Given the description of an element on the screen output the (x, y) to click on. 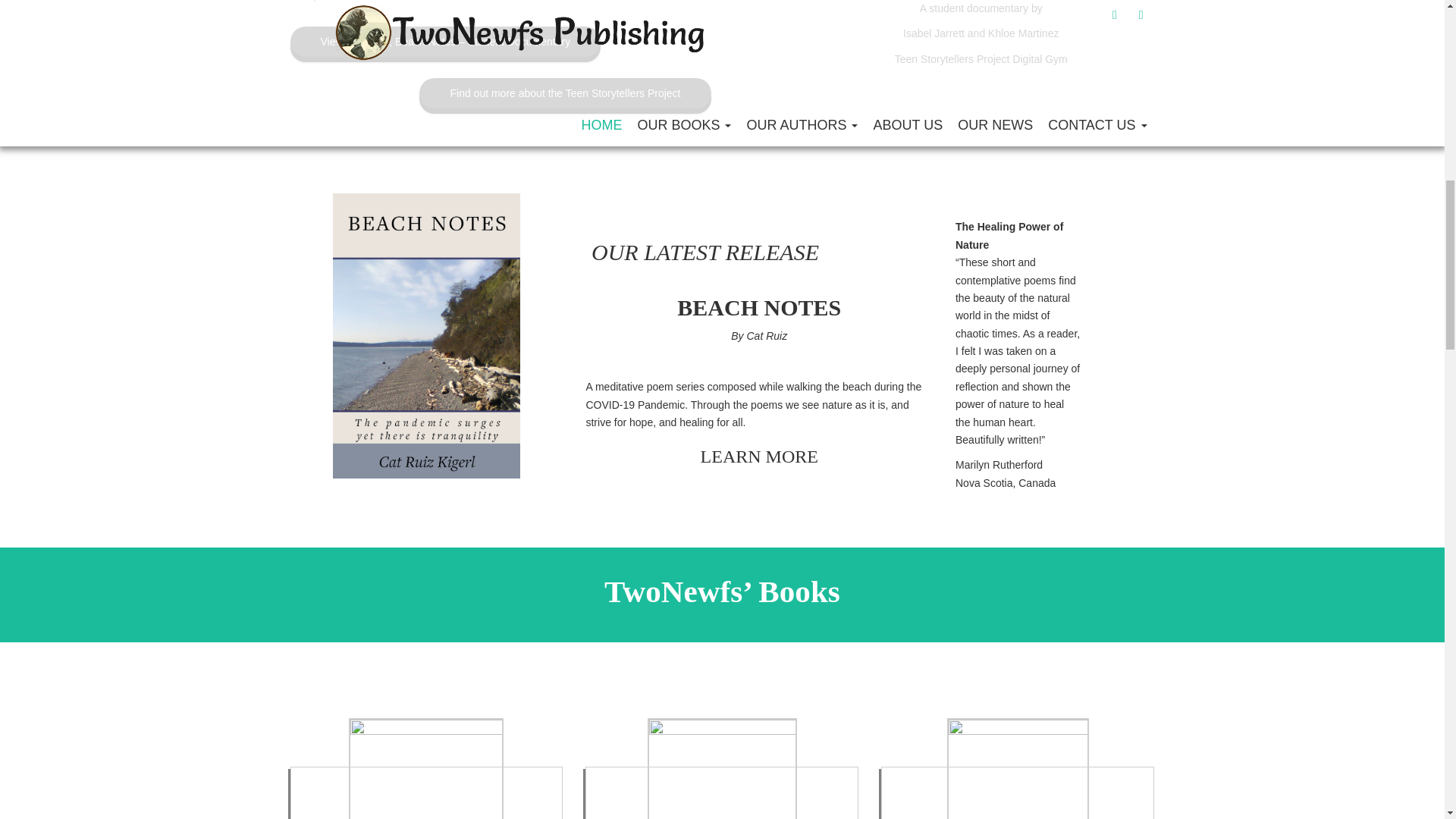
LEARN MORE (759, 456)
Find out more about the Teen Storytellers Project (564, 92)
